Given the description of an element on the screen output the (x, y) to click on. 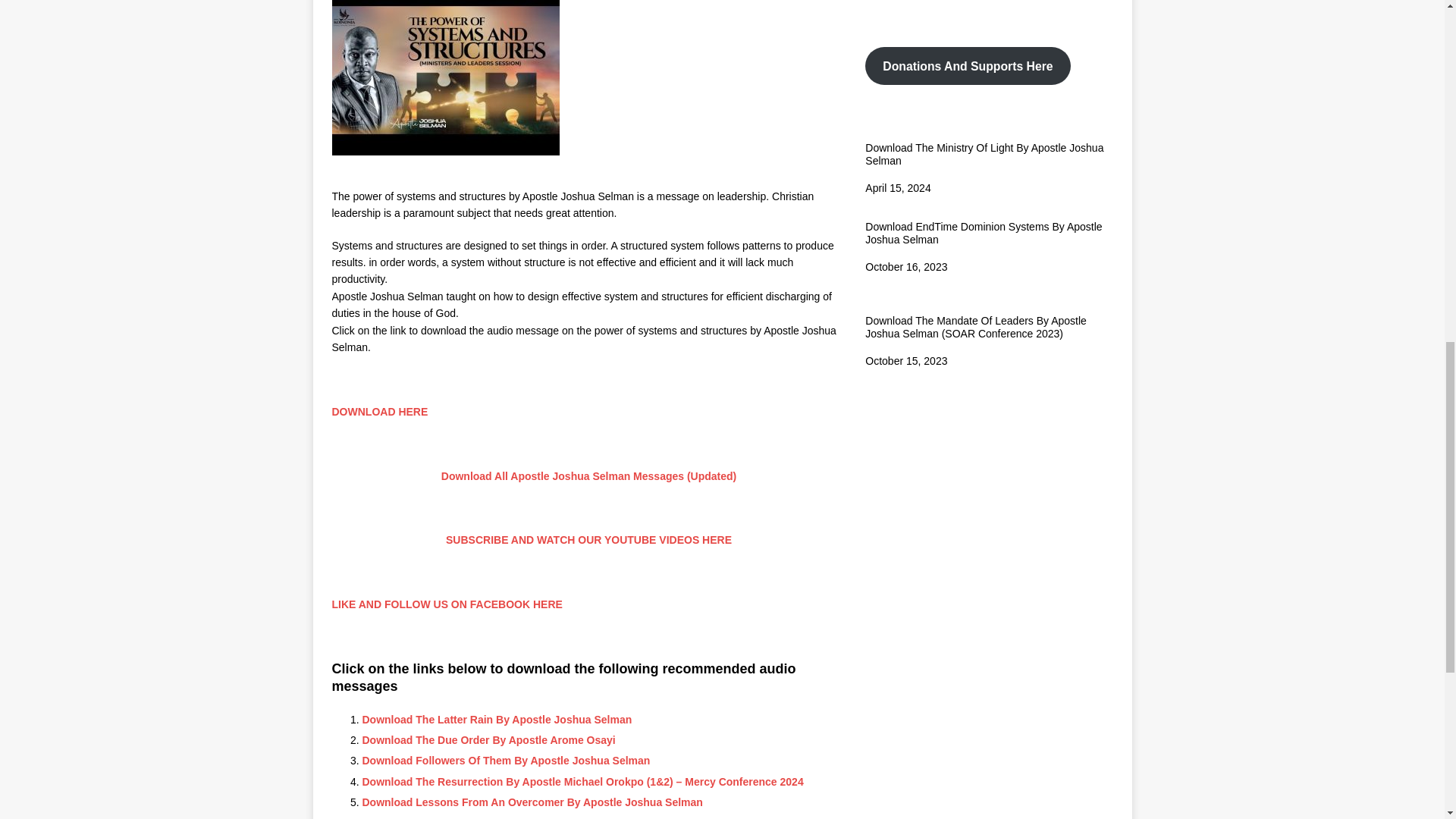
Download Followers Of Them By Apostle Joshua Selman (506, 760)
Download The Latter Rain By Apostle Joshua Selman (496, 719)
Download The Due Order By Apostle Arome Osayi (488, 739)
LIKE AND FOLLOW US ON FACEBOOK HERE (446, 604)
SUBSCRIBE AND WATCH OUR YOUTUBE VIDEOS HERE (588, 539)
DOWNLOAD HERE (379, 411)
